Given the description of an element on the screen output the (x, y) to click on. 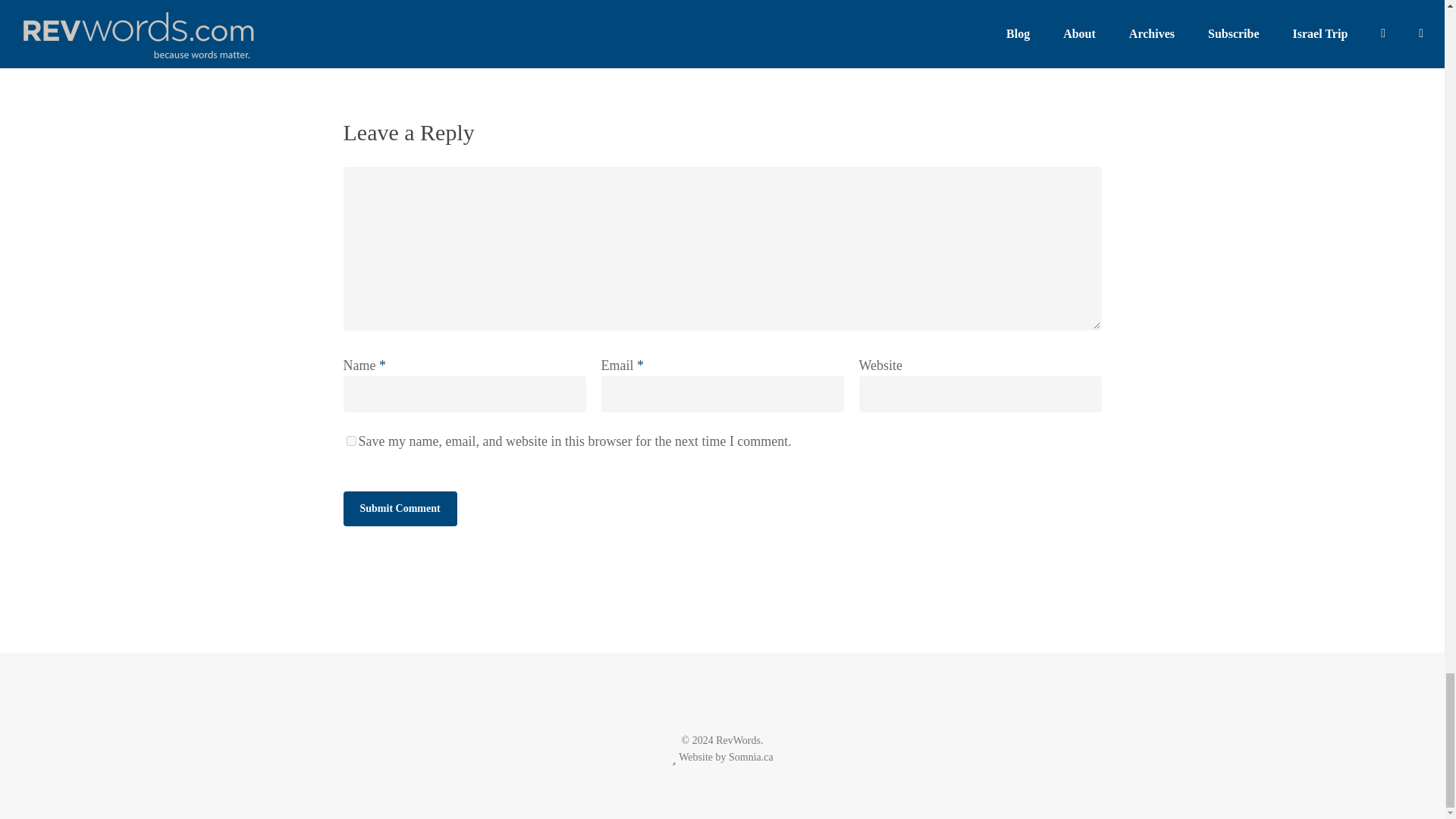
yes (350, 440)
Submit Comment (399, 508)
